Given the description of an element on the screen output the (x, y) to click on. 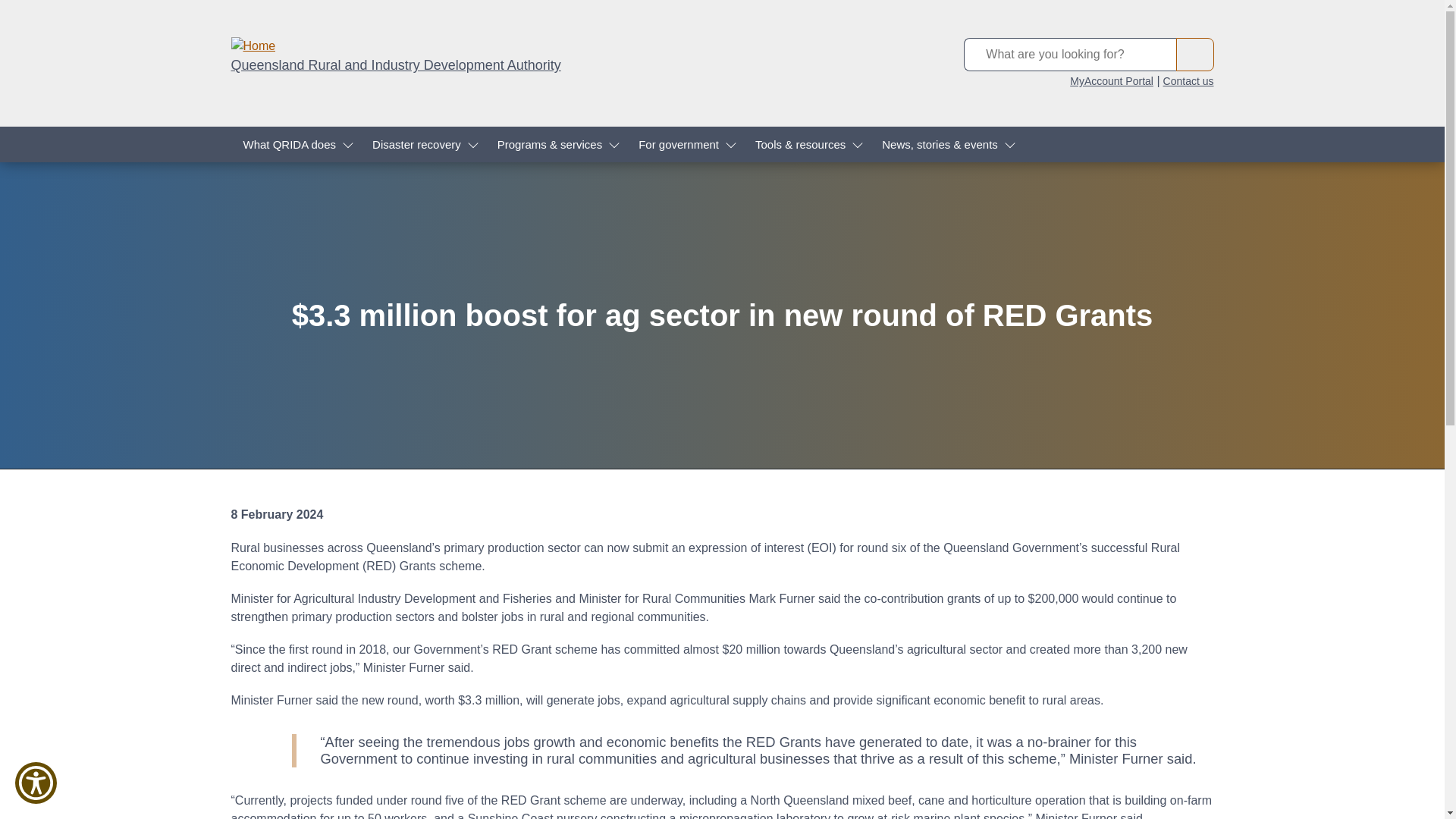
Search (1193, 54)
Disaster recovery (421, 144)
Contact QRIDA (1188, 80)
Search (1193, 54)
Enter the terms you wish to search for. (1068, 54)
Queensland Rural and Industry Development Authority (395, 64)
What QRIDA does (294, 144)
